Given the description of an element on the screen output the (x, y) to click on. 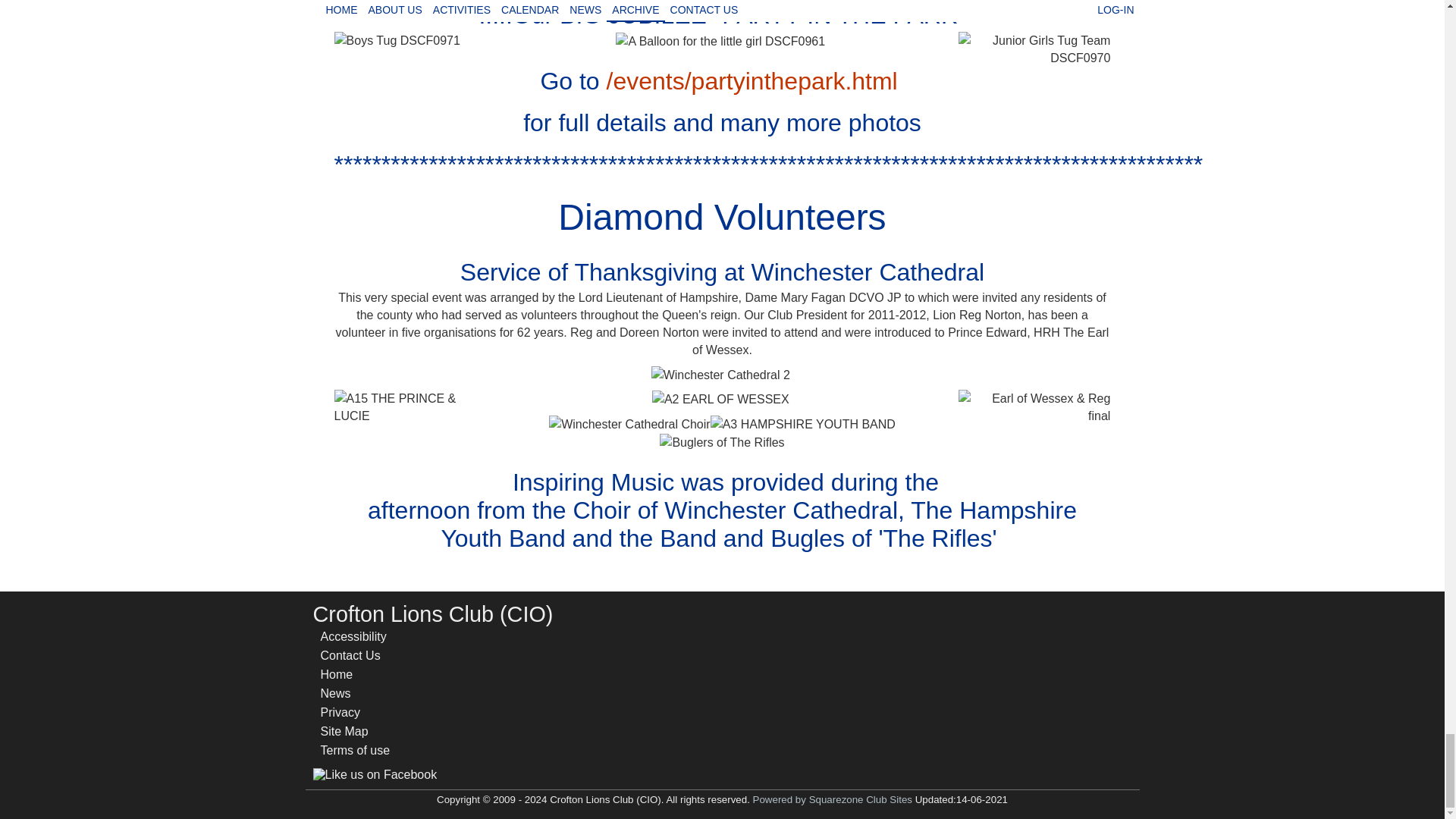
Accessibility (355, 636)
News (355, 692)
Home (355, 674)
Site Map (355, 731)
Terms of use (355, 750)
Privacy (355, 711)
Contact Us (355, 655)
